Given the description of an element on the screen output the (x, y) to click on. 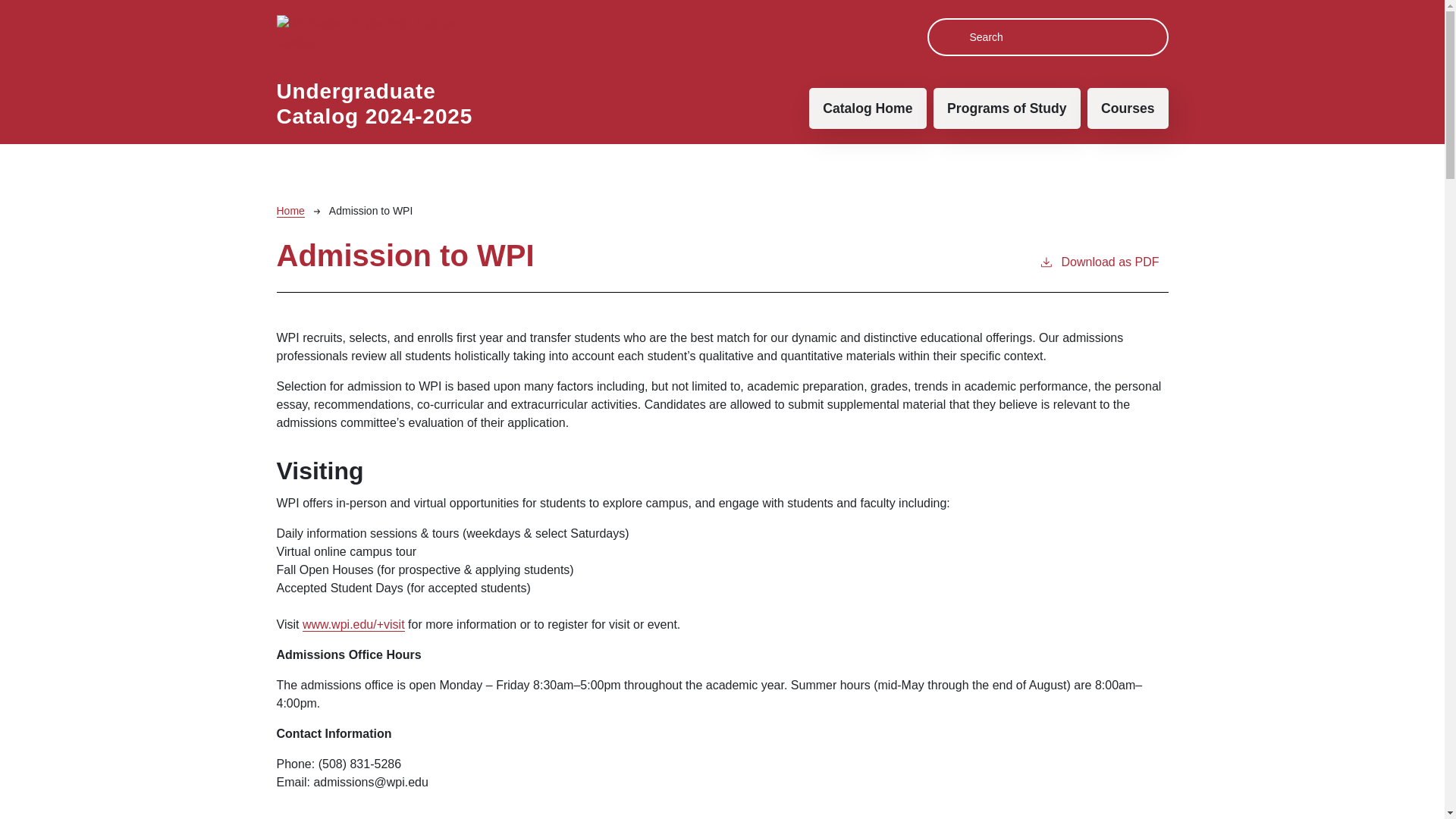
Search (950, 35)
Programs of Study (1006, 107)
Search (950, 35)
Download as PDF (1098, 272)
Home (290, 210)
Catalog Home (867, 107)
Courses (1127, 107)
